Given the description of an element on the screen output the (x, y) to click on. 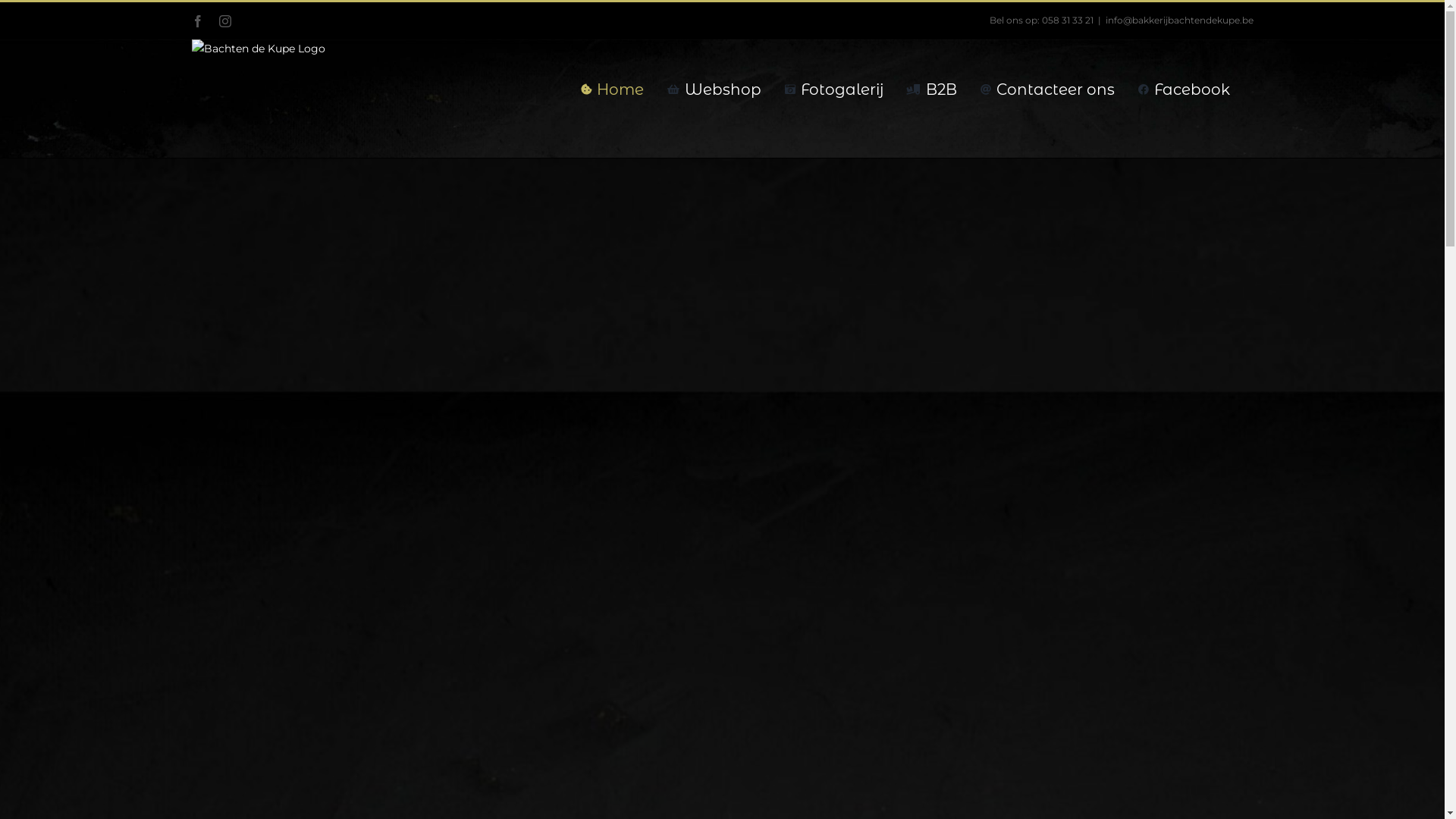
B2B Element type: text (931, 88)
Home Element type: text (611, 88)
Fotogalerij Element type: text (833, 88)
Facebook Element type: text (197, 21)
Facebook Element type: text (1183, 88)
Instagram Element type: text (224, 21)
Contacteer ons Element type: text (1046, 88)
info@bakkerijbachtendekupe.be Element type: text (1179, 19)
Webshop Element type: text (714, 88)
